Given the description of an element on the screen output the (x, y) to click on. 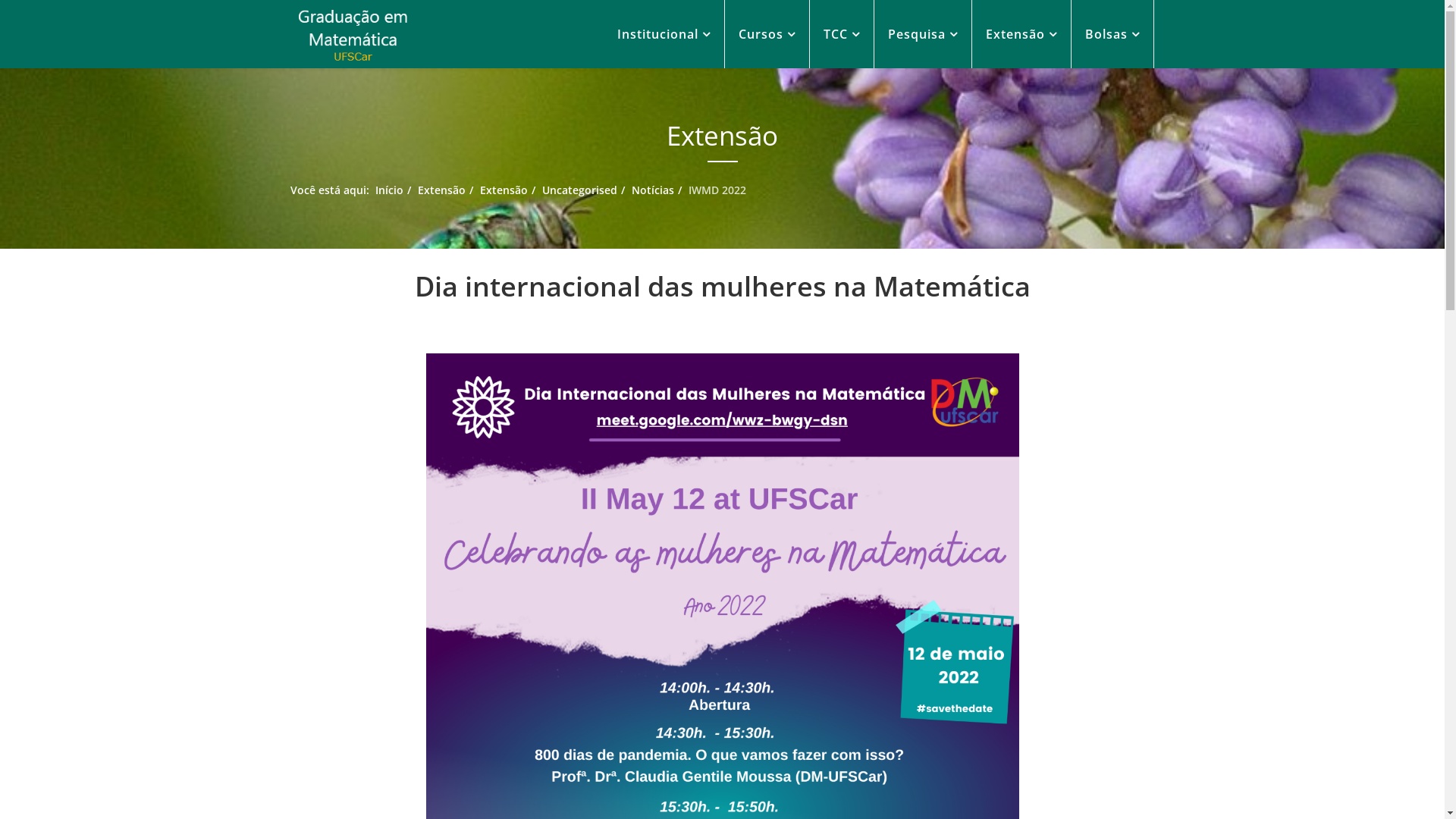
TCC Element type: text (841, 34)
Cursos Element type: text (766, 34)
Uncategorised Element type: text (578, 189)
Bolsas Element type: text (1111, 34)
Institucional Element type: text (663, 34)
Pesquisa Element type: text (921, 34)
